Given the description of an element on the screen output the (x, y) to click on. 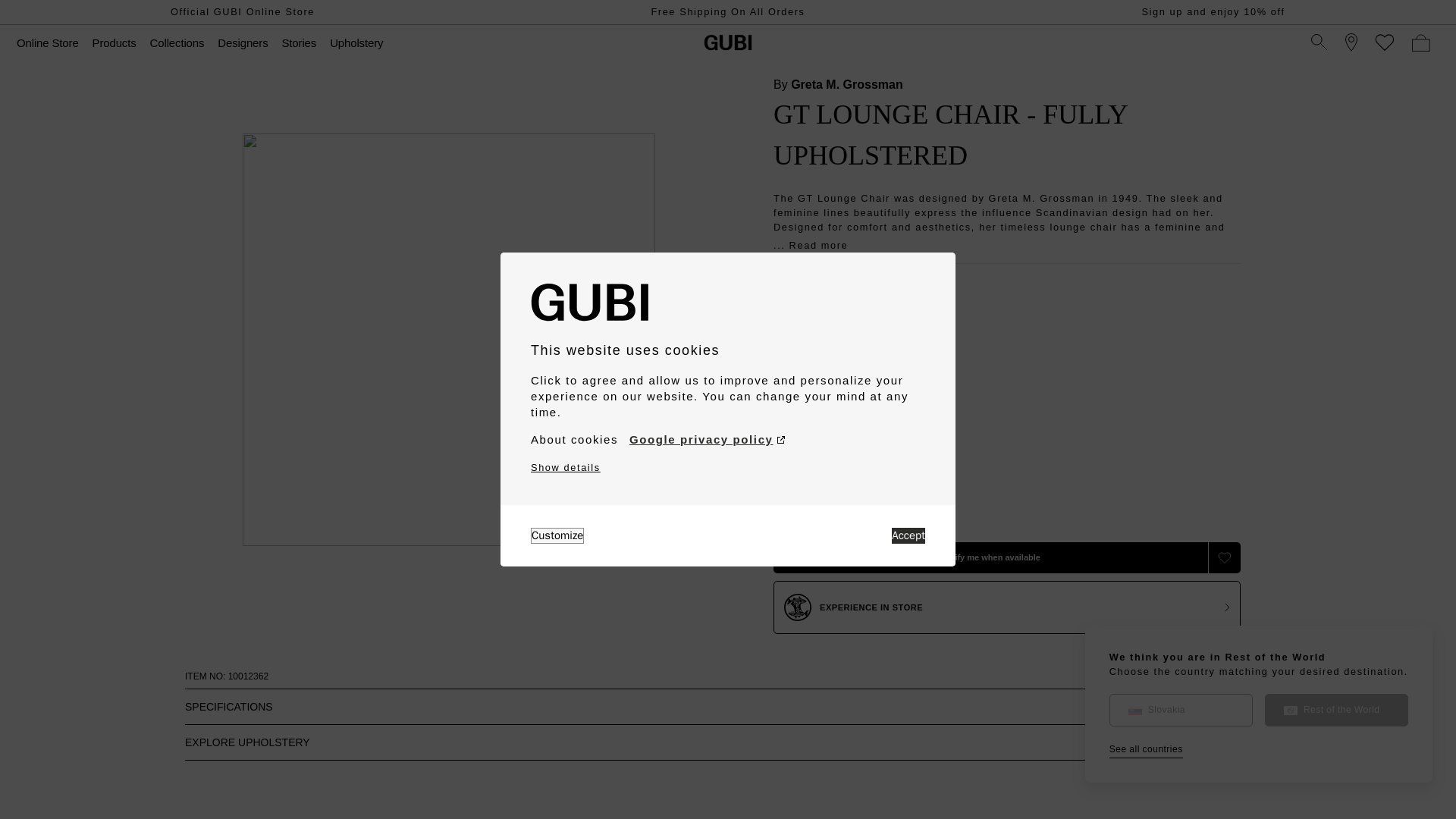
About cookies (574, 439)
Google privacy policy (707, 439)
Show details (565, 467)
